Given the description of an element on the screen output the (x, y) to click on. 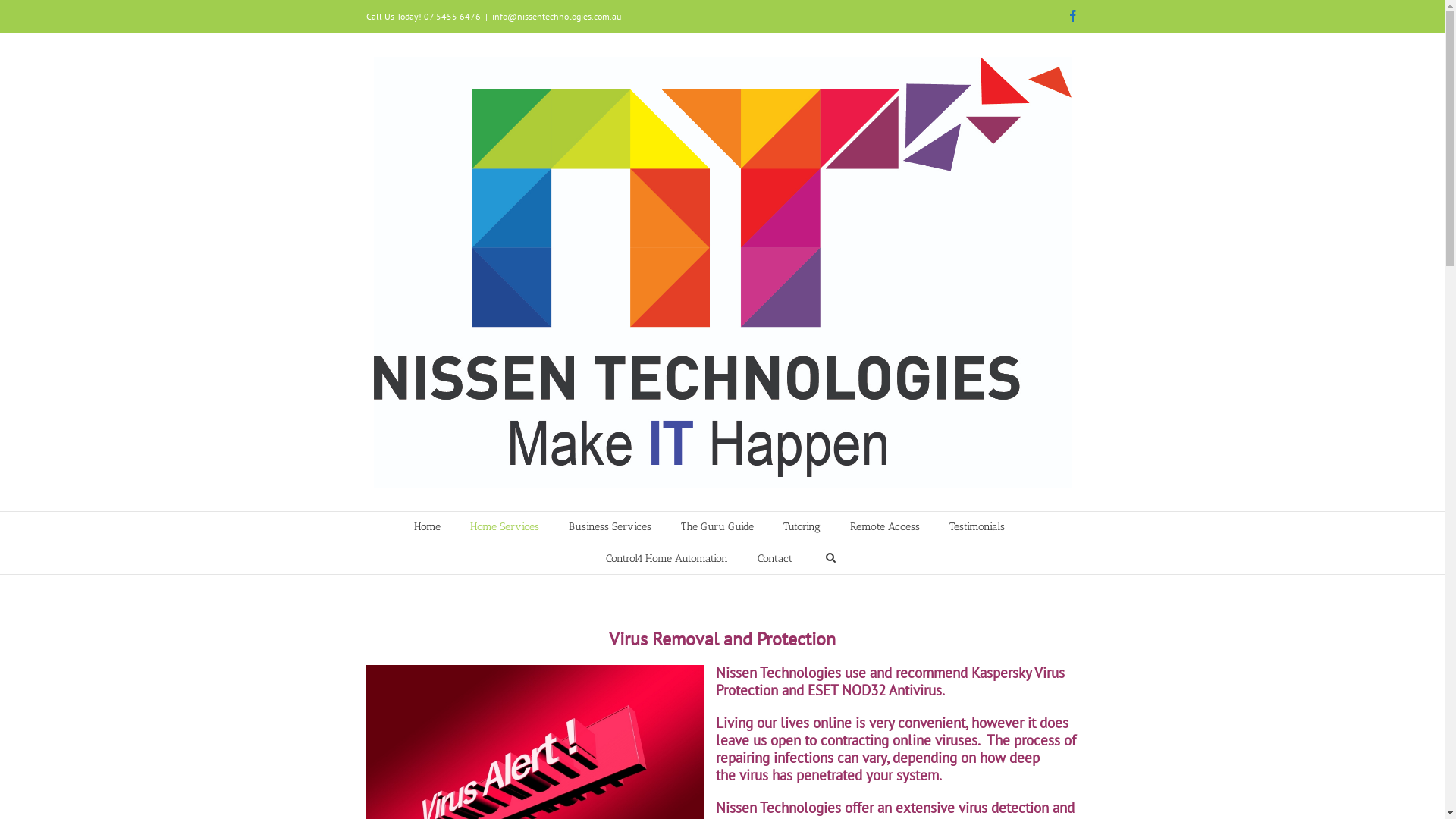
Home Element type: text (427, 526)
Tutoring Element type: text (800, 526)
Remote Access Element type: text (884, 526)
The Guru Guide Element type: text (716, 526)
Business Services Element type: text (609, 526)
info@nissentechnologies.com.au Element type: text (555, 15)
Testimonials Element type: text (976, 526)
Control4 Home Automation Element type: text (666, 558)
Home Services Element type: text (504, 526)
Facebook Element type: hover (1072, 15)
Contact Element type: text (773, 558)
